Given the description of an element on the screen output the (x, y) to click on. 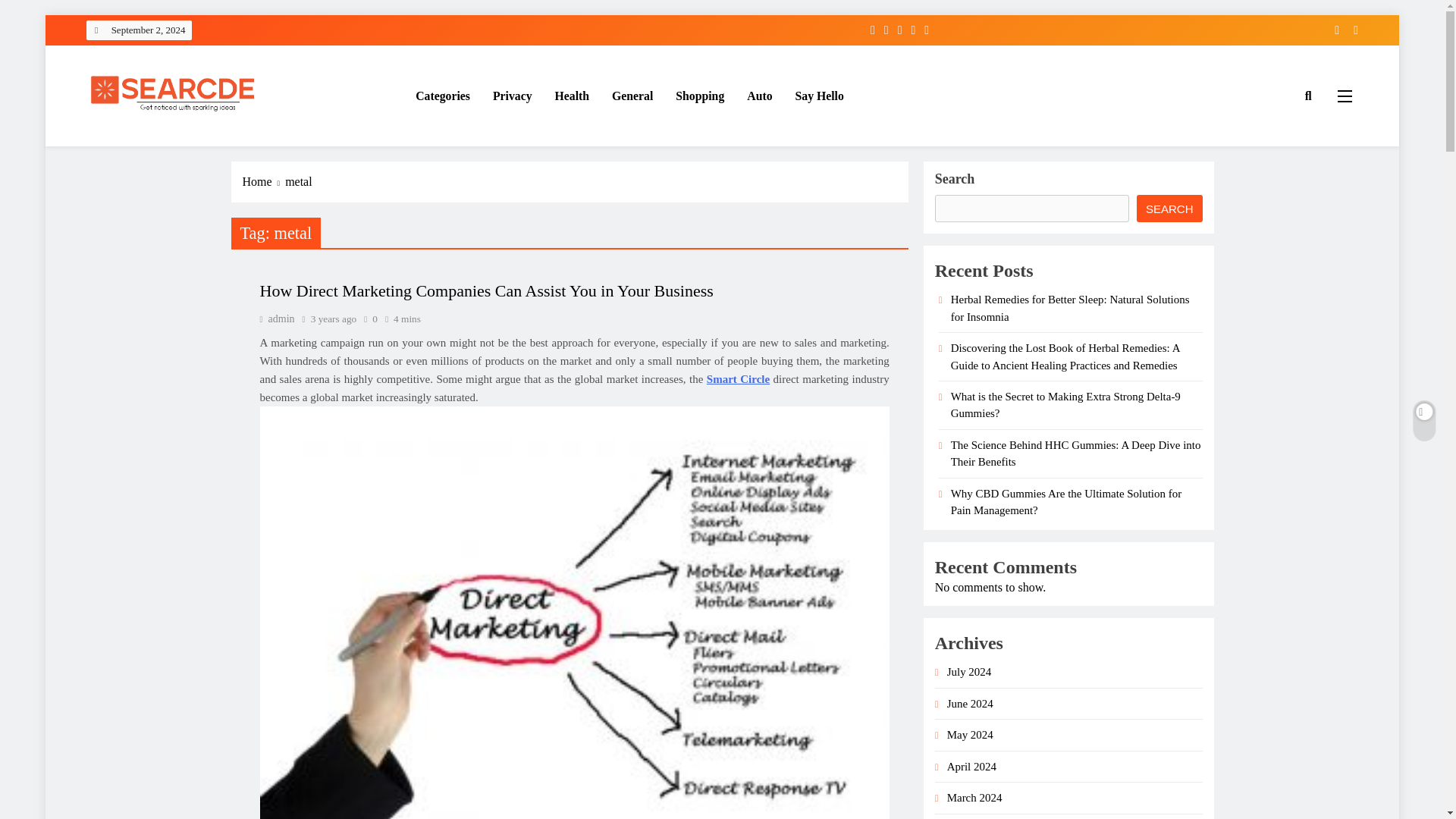
Home (264, 181)
April 2024 (971, 766)
SEARCH (1169, 207)
May 2024 (969, 734)
General (631, 96)
Health (572, 96)
What is the Secret to Making Extra Strong Delta-9 Gummies? (1065, 404)
